Given the description of an element on the screen output the (x, y) to click on. 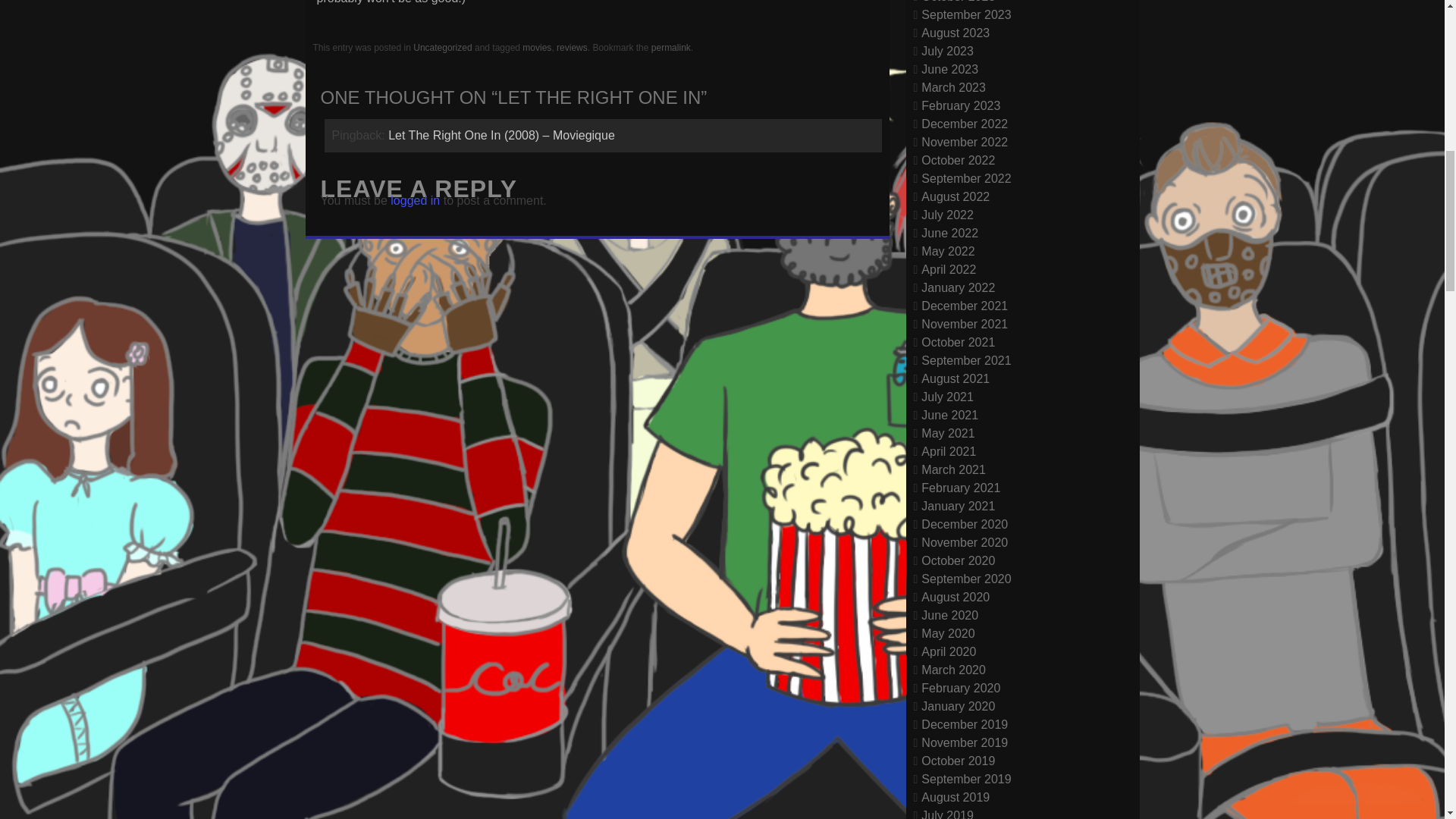
logged in (414, 200)
permalink (670, 47)
Permalink to Let The Right One In (670, 47)
movies (536, 47)
reviews (572, 47)
Uncategorized (442, 47)
